Given the description of an element on the screen output the (x, y) to click on. 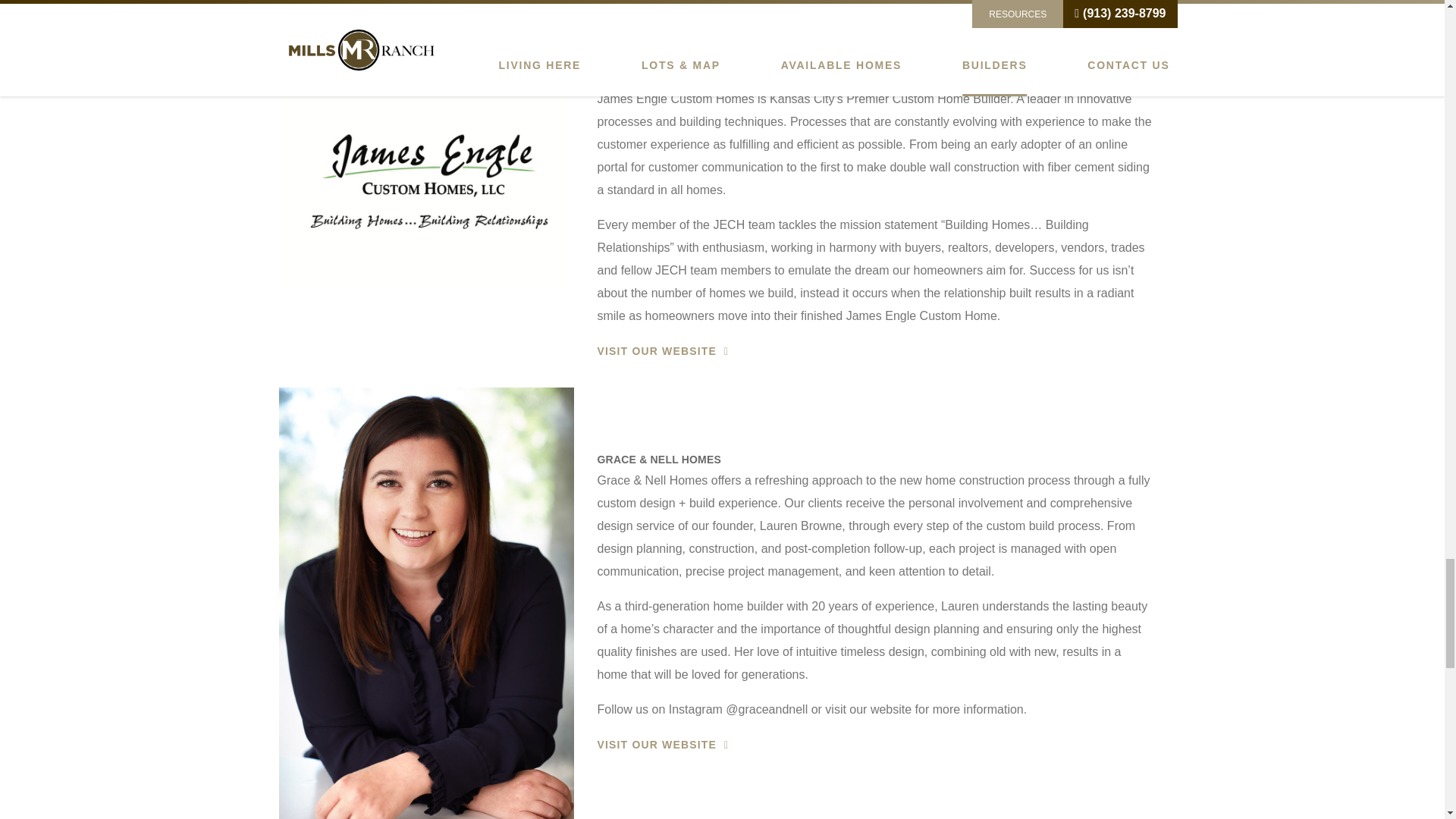
VISIT OUR WEBSITE (658, 350)
VISIT OUR WEBSITE (658, 31)
VISIT OUR WEBSITE (658, 744)
